Given the description of an element on the screen output the (x, y) to click on. 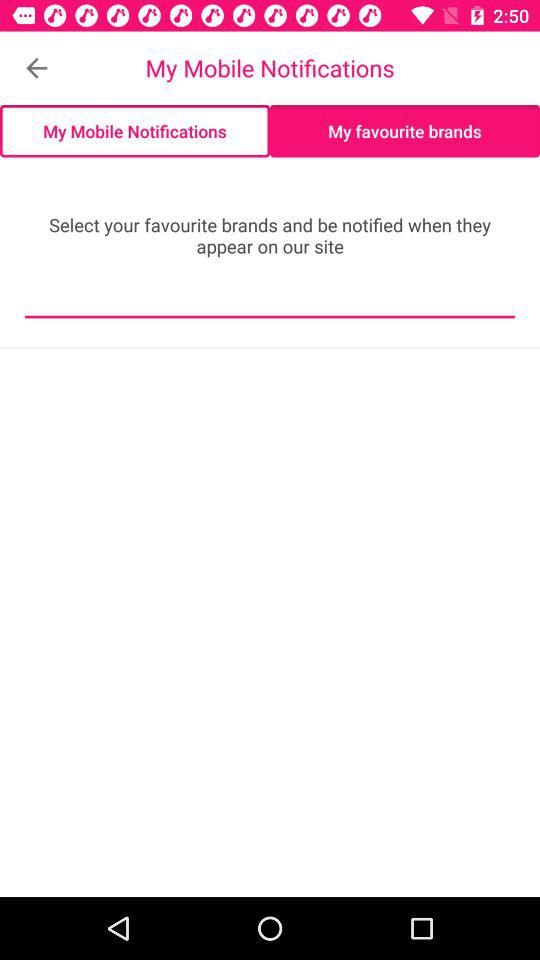
turn off the icon above the my mobile notifications icon (36, 68)
